Given the description of an element on the screen output the (x, y) to click on. 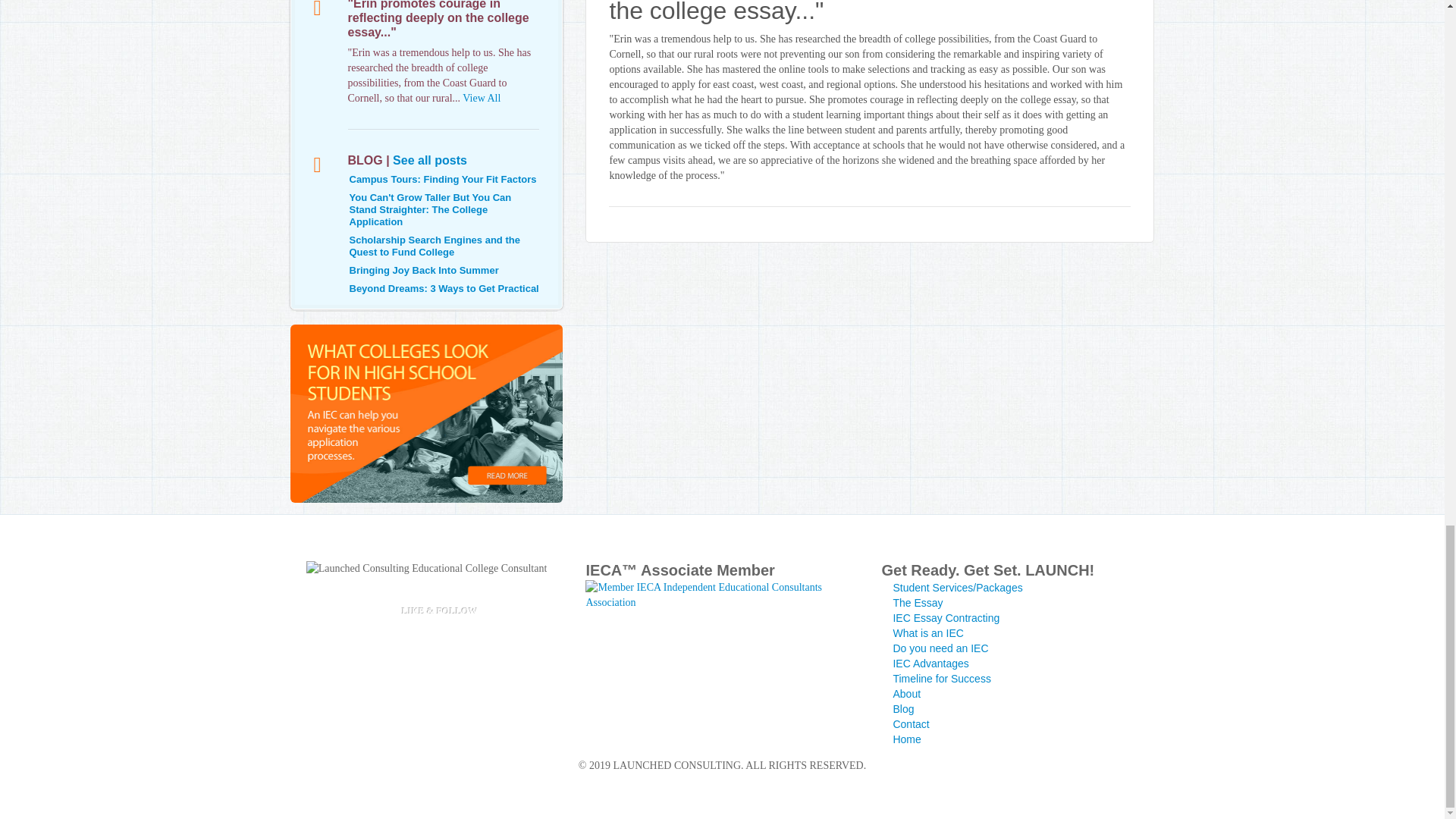
Banner (425, 413)
Do You Need an IEC (940, 648)
View All (481, 98)
FAQs (930, 663)
Scholarship Search Engines and the Quest to Fund College (434, 245)
Campus Tours: Finding Your Fit Factors (442, 179)
What is an IEC (927, 633)
Bringing Joy Back Into Summer (423, 270)
See all posts (430, 160)
